Given the description of an element on the screen output the (x, y) to click on. 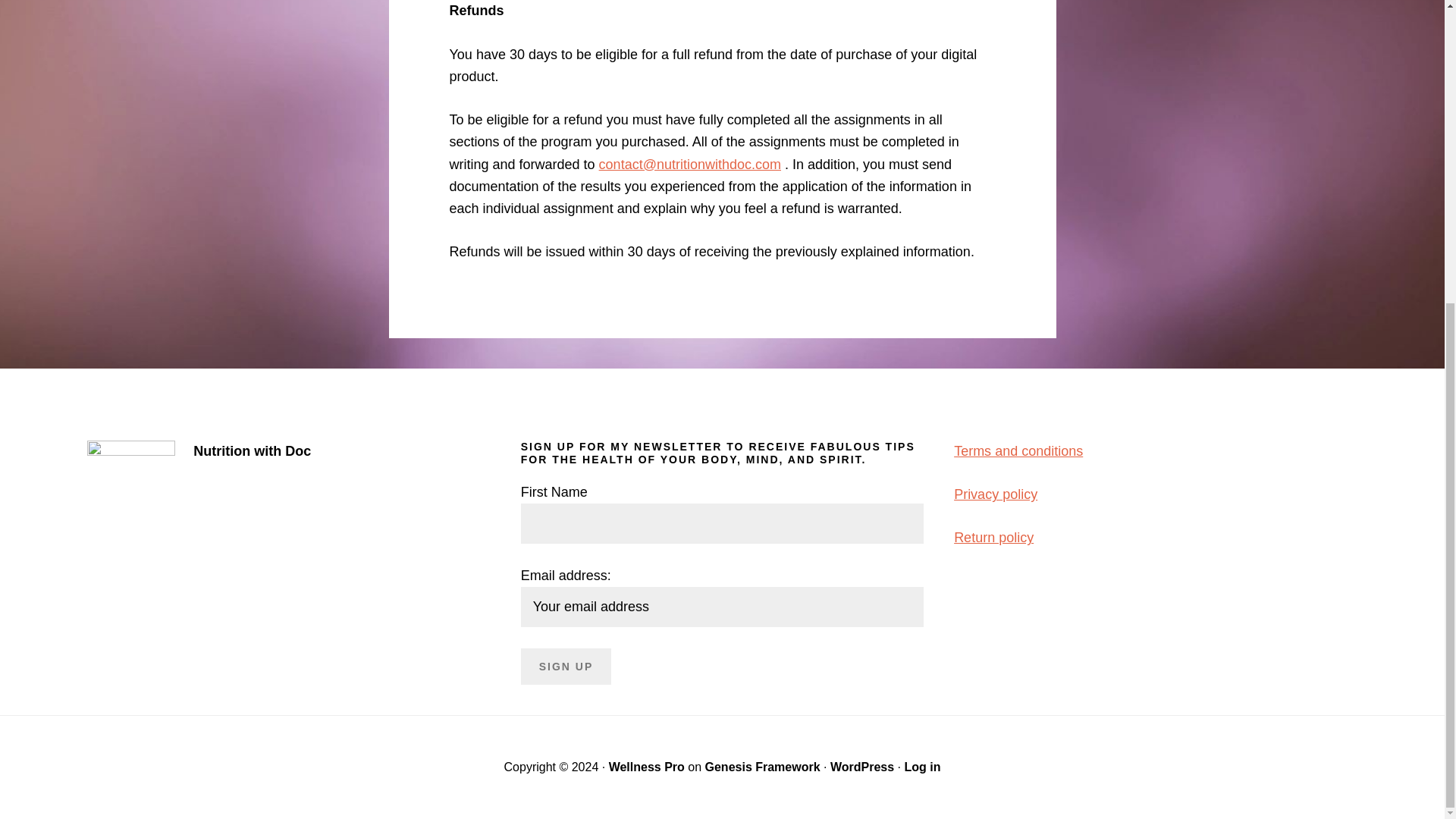
WordPress (861, 766)
Terms and conditions (1018, 450)
Privacy policy (994, 494)
Sign up (566, 666)
Return policy (993, 537)
Sign up (566, 666)
Genesis Framework (762, 766)
Wellness Pro (646, 766)
Log in (922, 766)
